Given the description of an element on the screen output the (x, y) to click on. 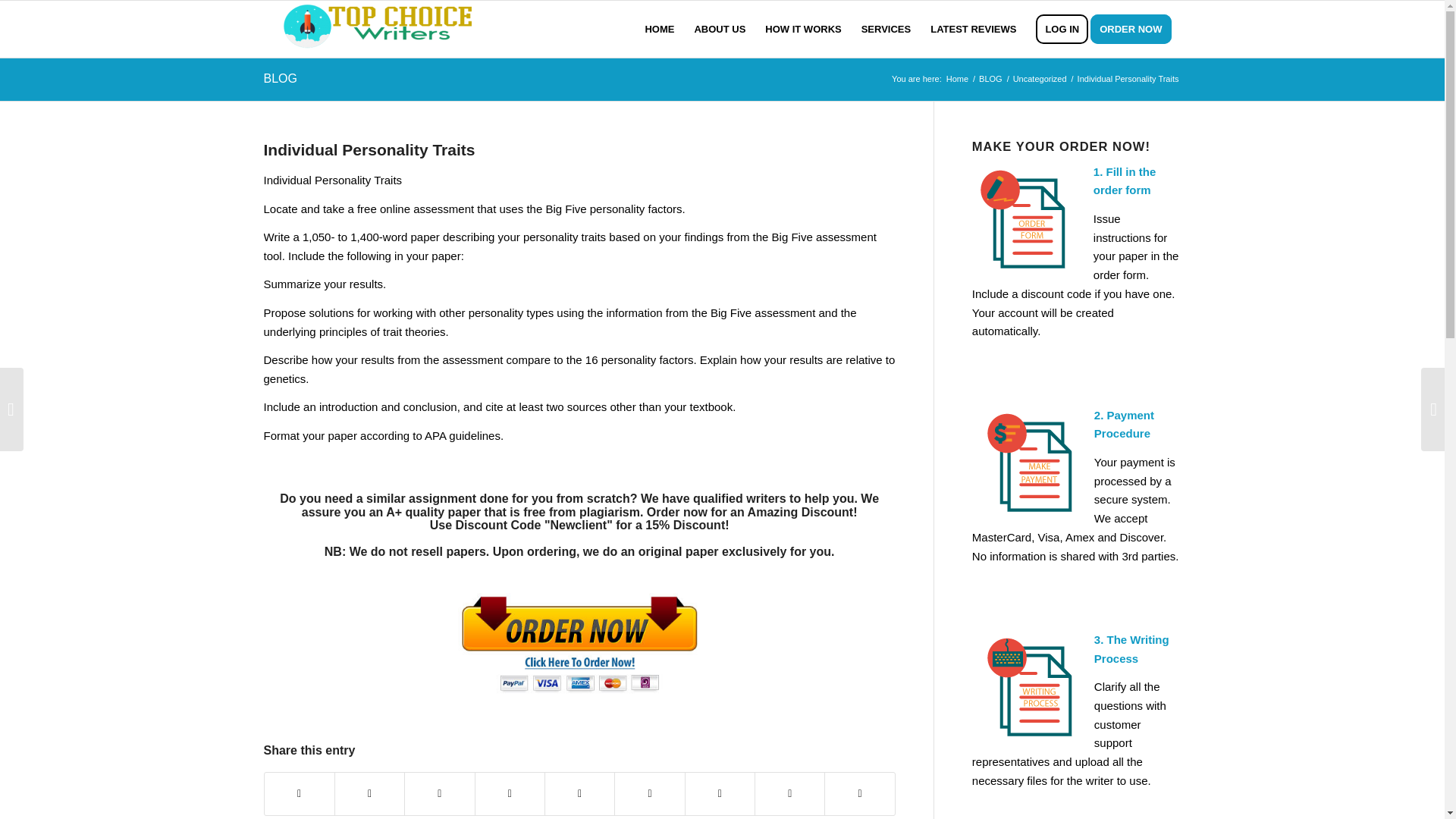
Individual Personality Traits (369, 149)
topchoicewriters.com (957, 79)
ABOUT US (719, 28)
BLOG (280, 78)
BLOG (990, 79)
Permanent Link: Individual Personality Traits (369, 149)
LATEST REVIEWS (973, 28)
Home (957, 79)
Uncategorized (1039, 79)
SERVICES (886, 28)
